Given the description of an element on the screen output the (x, y) to click on. 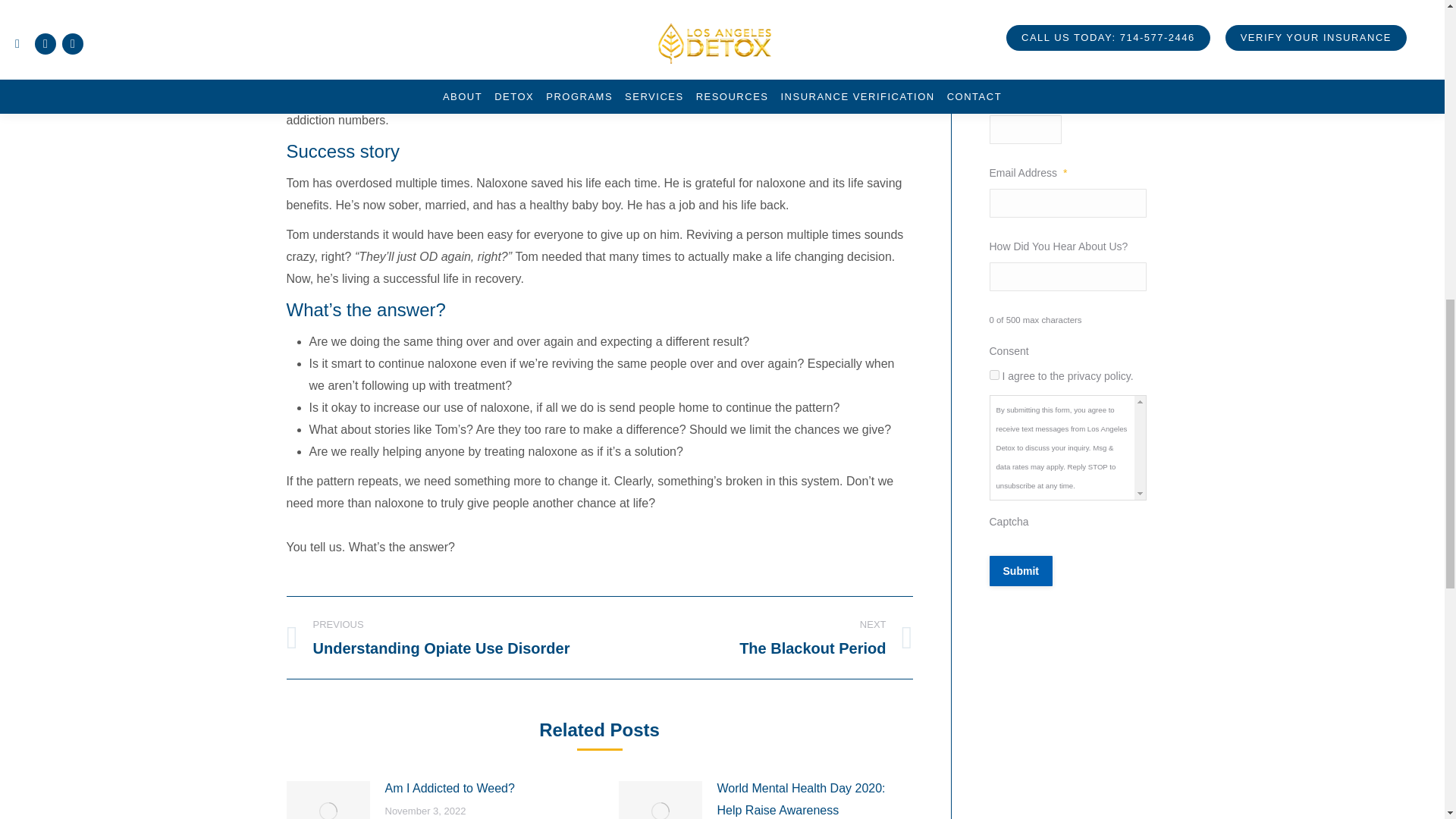
1 (993, 375)
Submit (1019, 571)
